Given the description of an element on the screen output the (x, y) to click on. 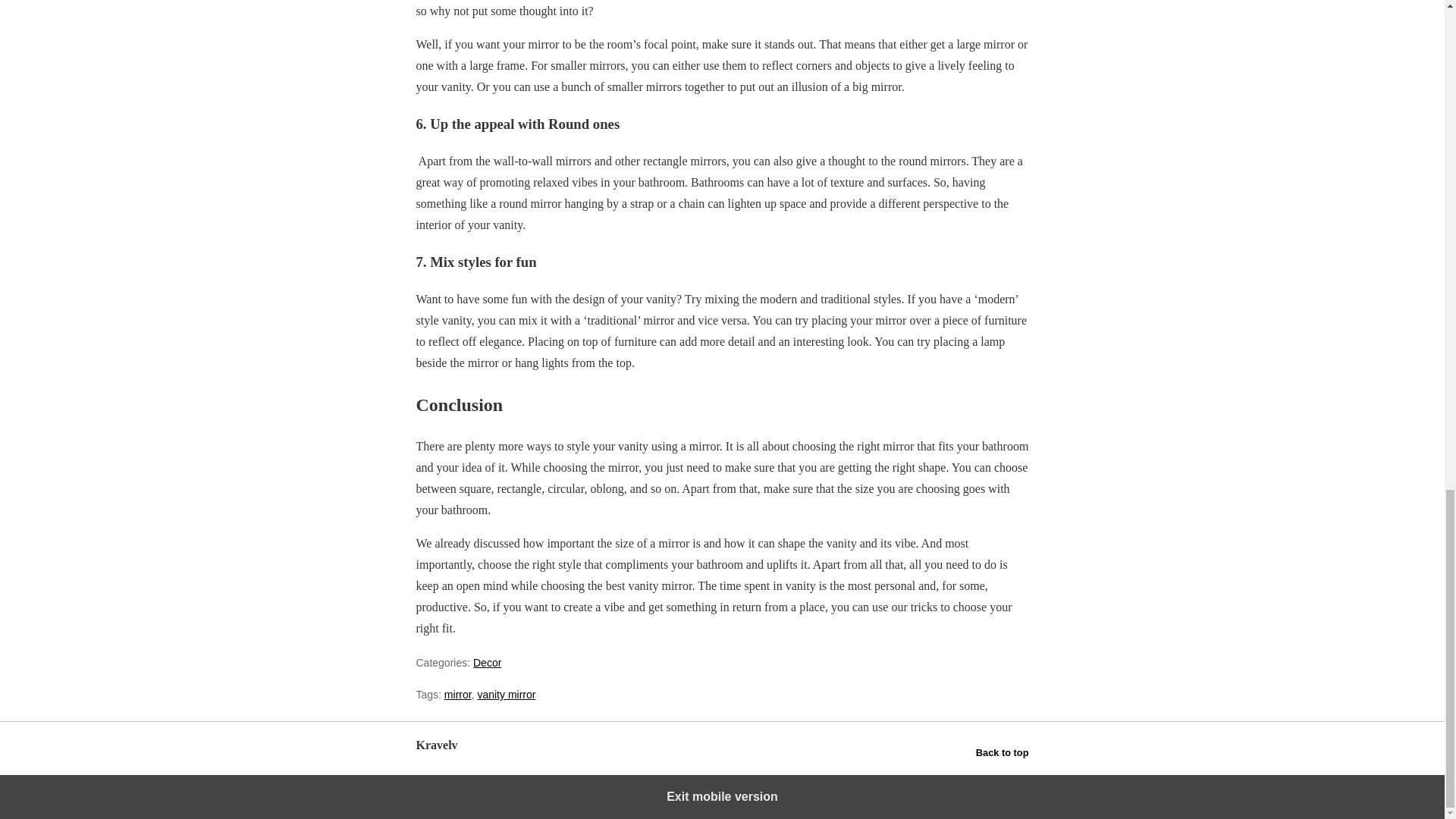
Decor (486, 662)
vanity mirror (506, 694)
Back to top (1002, 752)
mirror (457, 694)
